Given the description of an element on the screen output the (x, y) to click on. 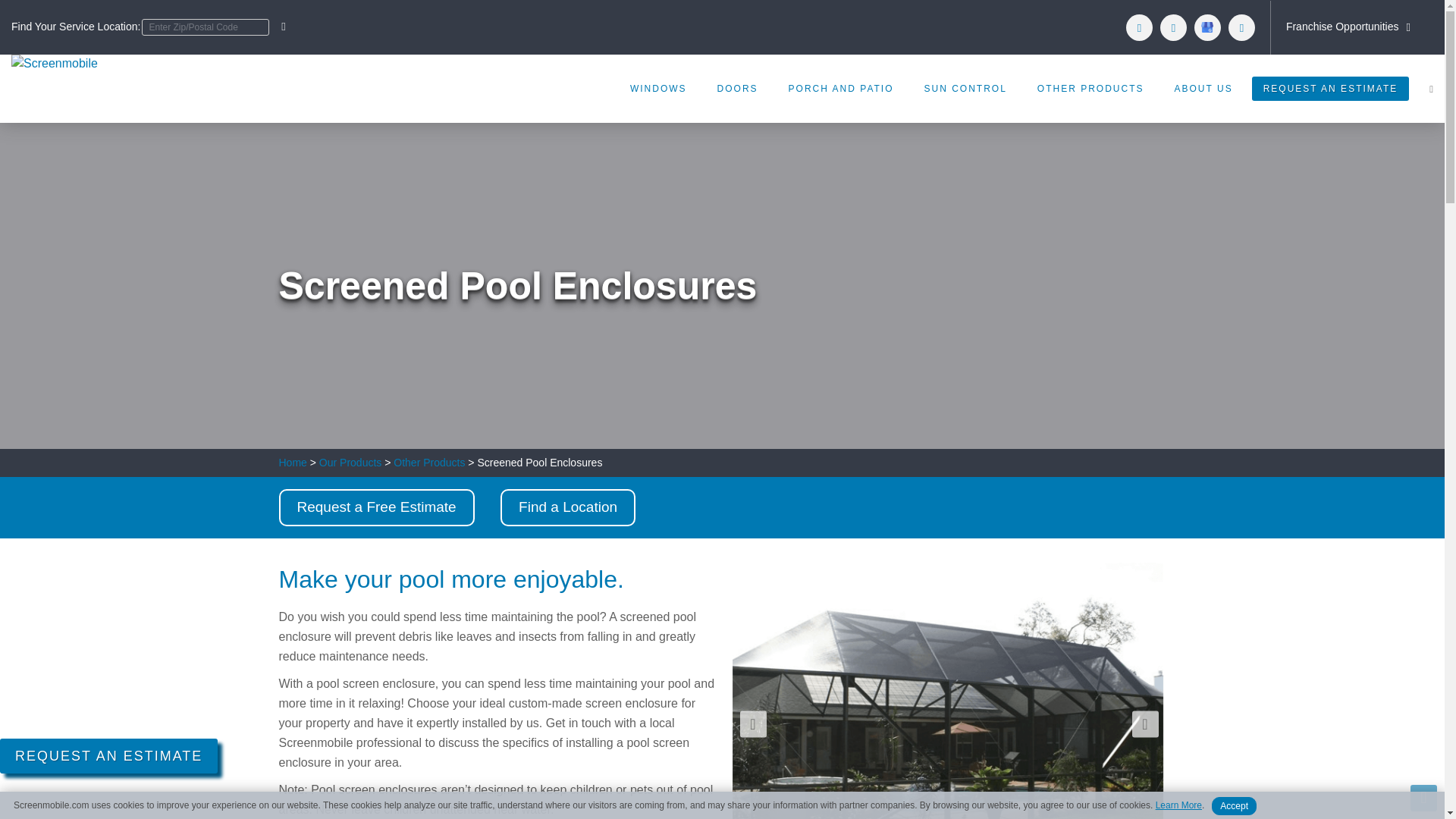
Privacy Policy (1179, 805)
DOORS (737, 88)
Franchise Opportunities (1349, 26)
WINDOWS (657, 88)
Accept (1233, 805)
Submit (282, 26)
Go to Screenmobile. (293, 462)
PORCH AND PATIO (840, 88)
Go to Our Products. (349, 462)
Go to the Other Products Category archives. (428, 462)
